Given the description of an element on the screen output the (x, y) to click on. 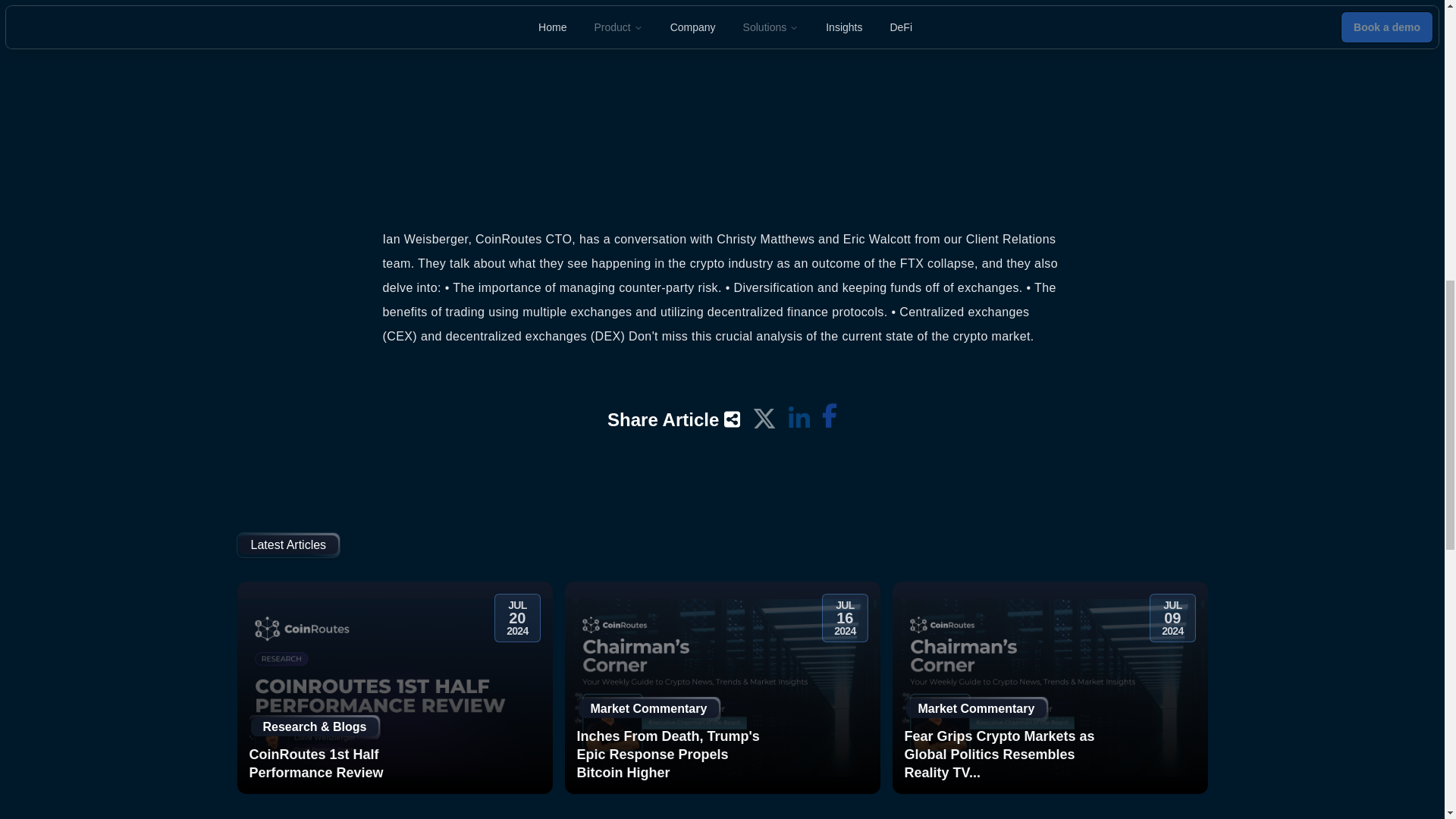
CoinRoutes 1st Half Performance Review (345, 763)
